Given the description of an element on the screen output the (x, y) to click on. 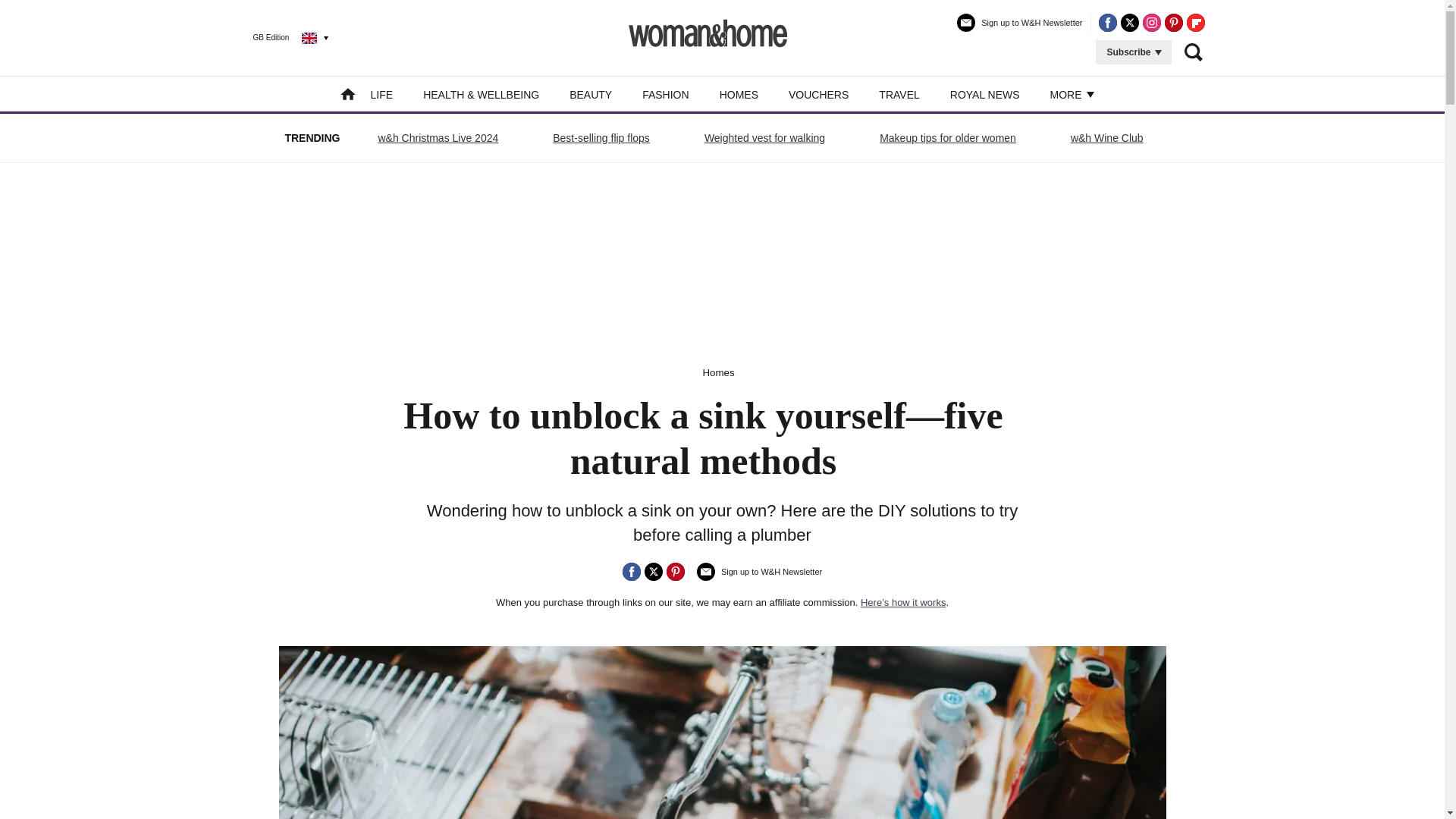
Weighted vest for walking (763, 137)
Best-selling flip flops (601, 137)
VOUCHERS (818, 94)
GB Edition (279, 37)
Homes (717, 372)
ROYAL NEWS (985, 94)
Makeup tips for older women (948, 137)
LIFE (382, 94)
HOMES (738, 94)
FASHION (665, 94)
